Given the description of an element on the screen output the (x, y) to click on. 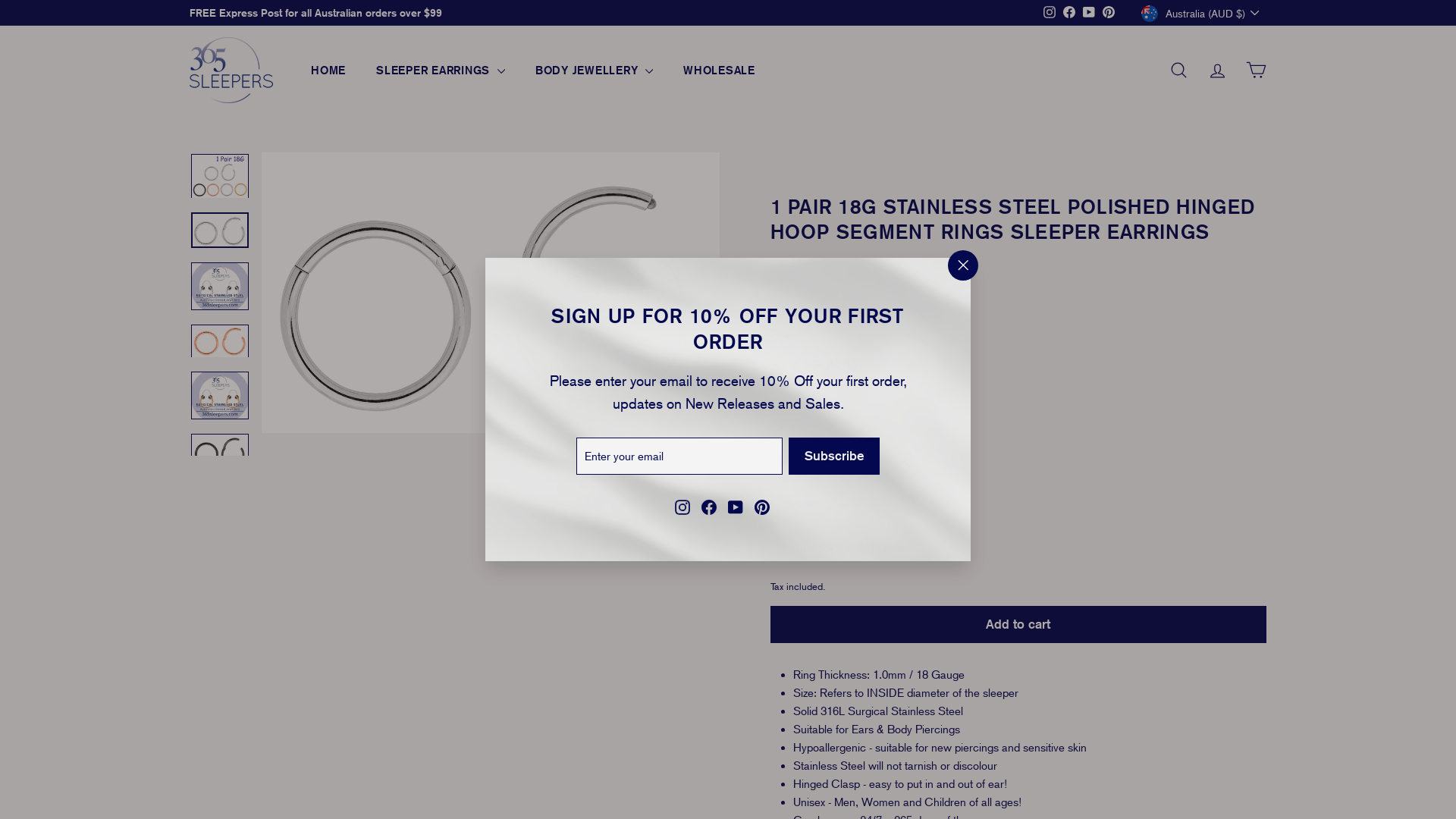
CART Element type: text (1255, 69)
ACCOUNT Element type: text (1217, 69)
Facebook Element type: text (708, 506)
SEARCH Element type: text (1178, 69)
Australia (AUD $) Element type: text (1203, 12)
Pinterest Element type: text (761, 506)
WHOLESALE Element type: text (719, 70)
instagram
Instagram Element type: text (1049, 12)
Facebook Element type: text (1069, 12)
HOME Element type: text (327, 70)
YouTube Element type: text (1088, 12)
Subscribe Element type: text (833, 455)
YouTube Element type: text (735, 506)
Pinterest Element type: text (1108, 12)
"Close (esc)" Element type: text (962, 265)
Add to cart Element type: text (1018, 623)
Instagram Element type: text (682, 506)
